Given the description of an element on the screen output the (x, y) to click on. 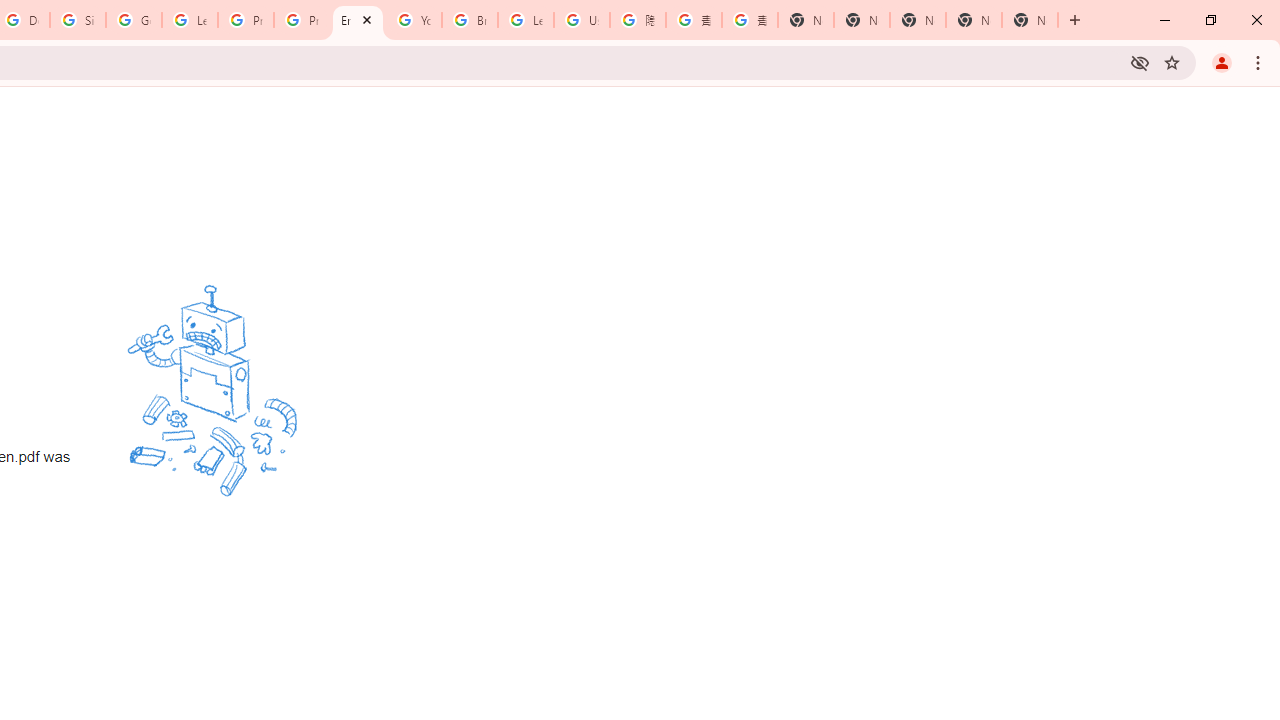
Privacy Help Center - Policies Help (301, 20)
Privacy Help Center - Policies Help (245, 20)
